Given the description of an element on the screen output the (x, y) to click on. 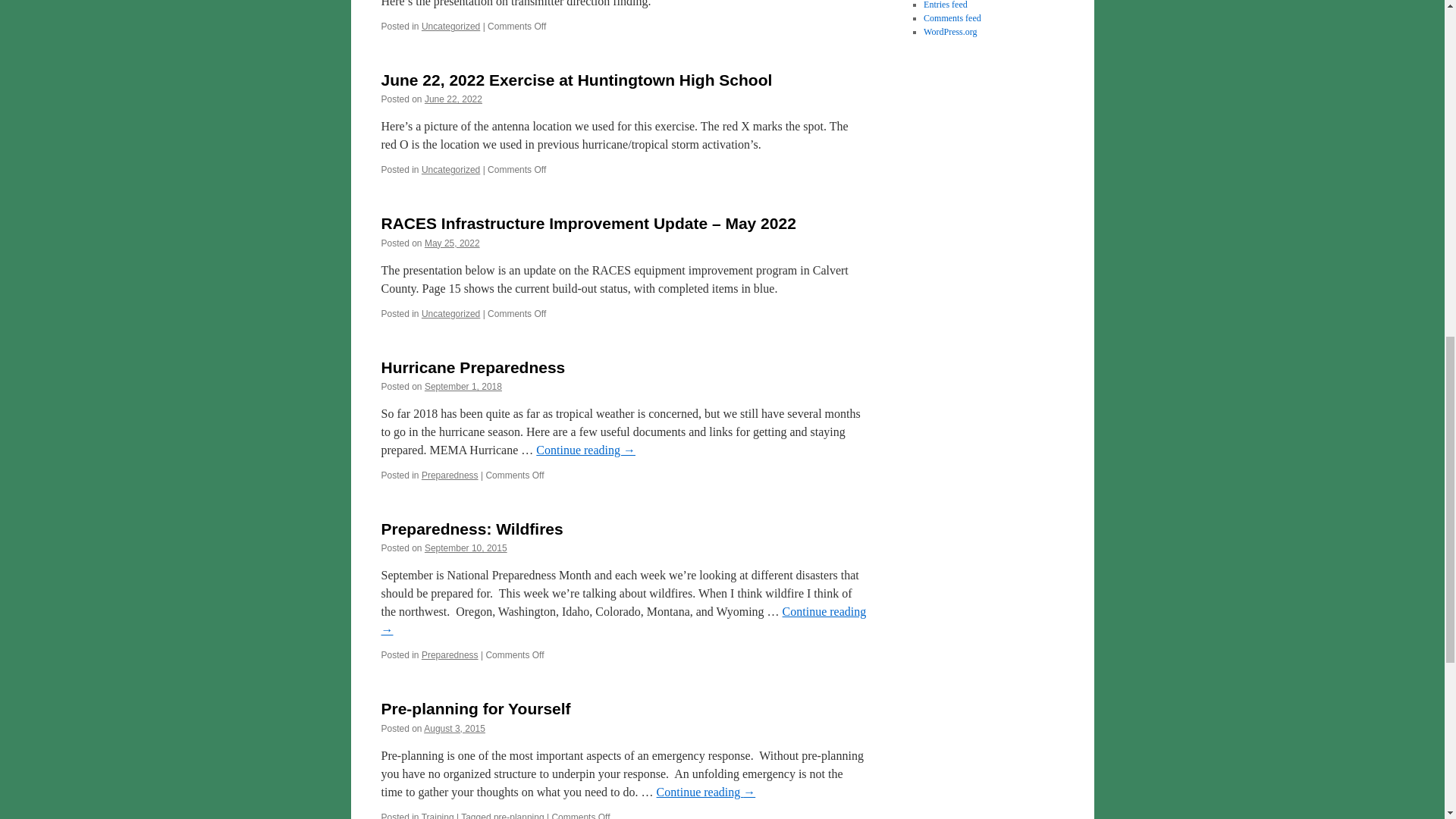
10:05 PM (463, 386)
5:01 PM (453, 99)
June 22, 2022 Exercise at Huntingtown High School (575, 79)
June 22, 2022 (453, 99)
8:58 PM (465, 547)
8:25 PM (452, 243)
Uncategorized (451, 26)
Uncategorized (451, 169)
